Given the description of an element on the screen output the (x, y) to click on. 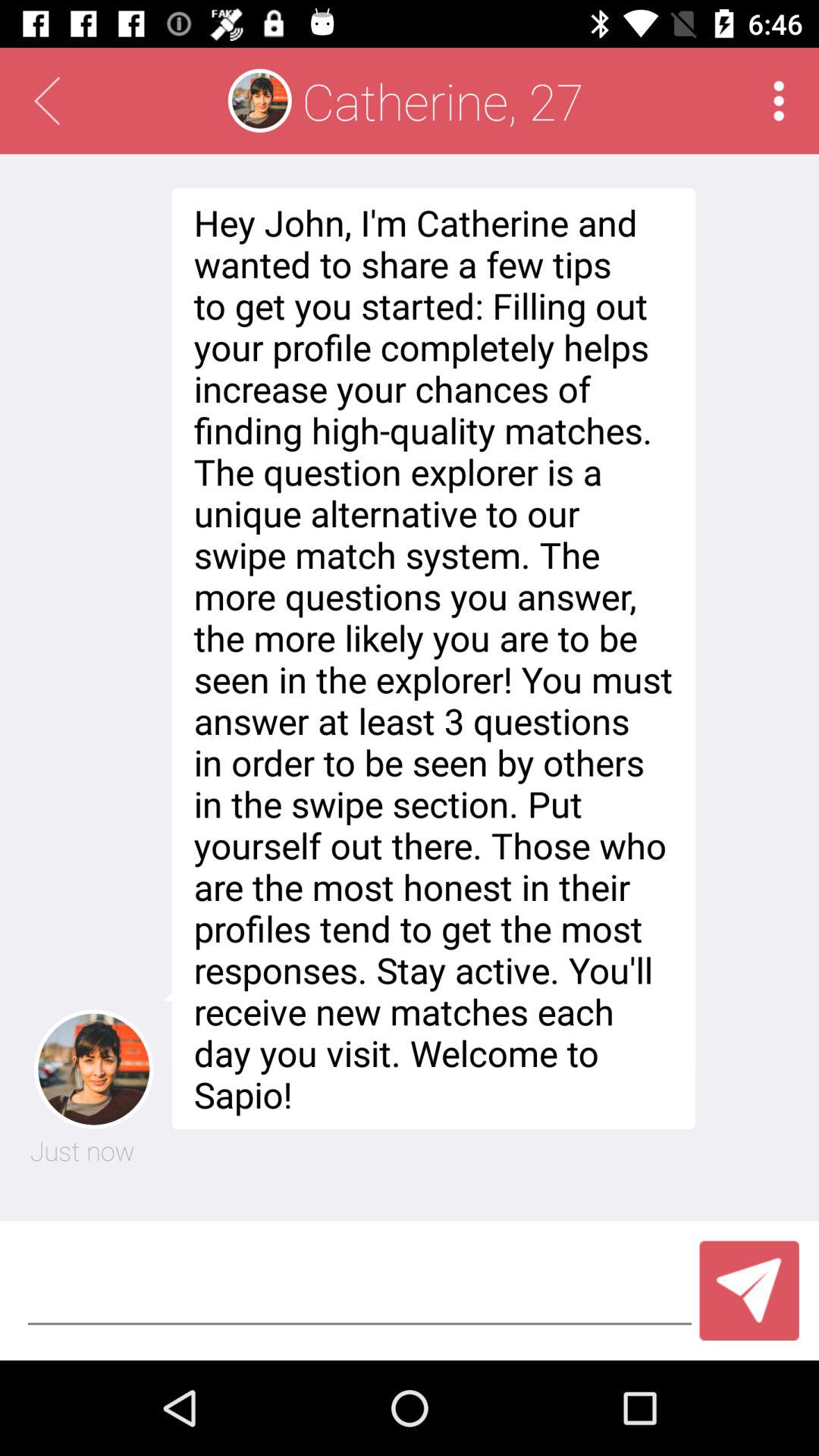
menu (778, 100)
